Given the description of an element on the screen output the (x, y) to click on. 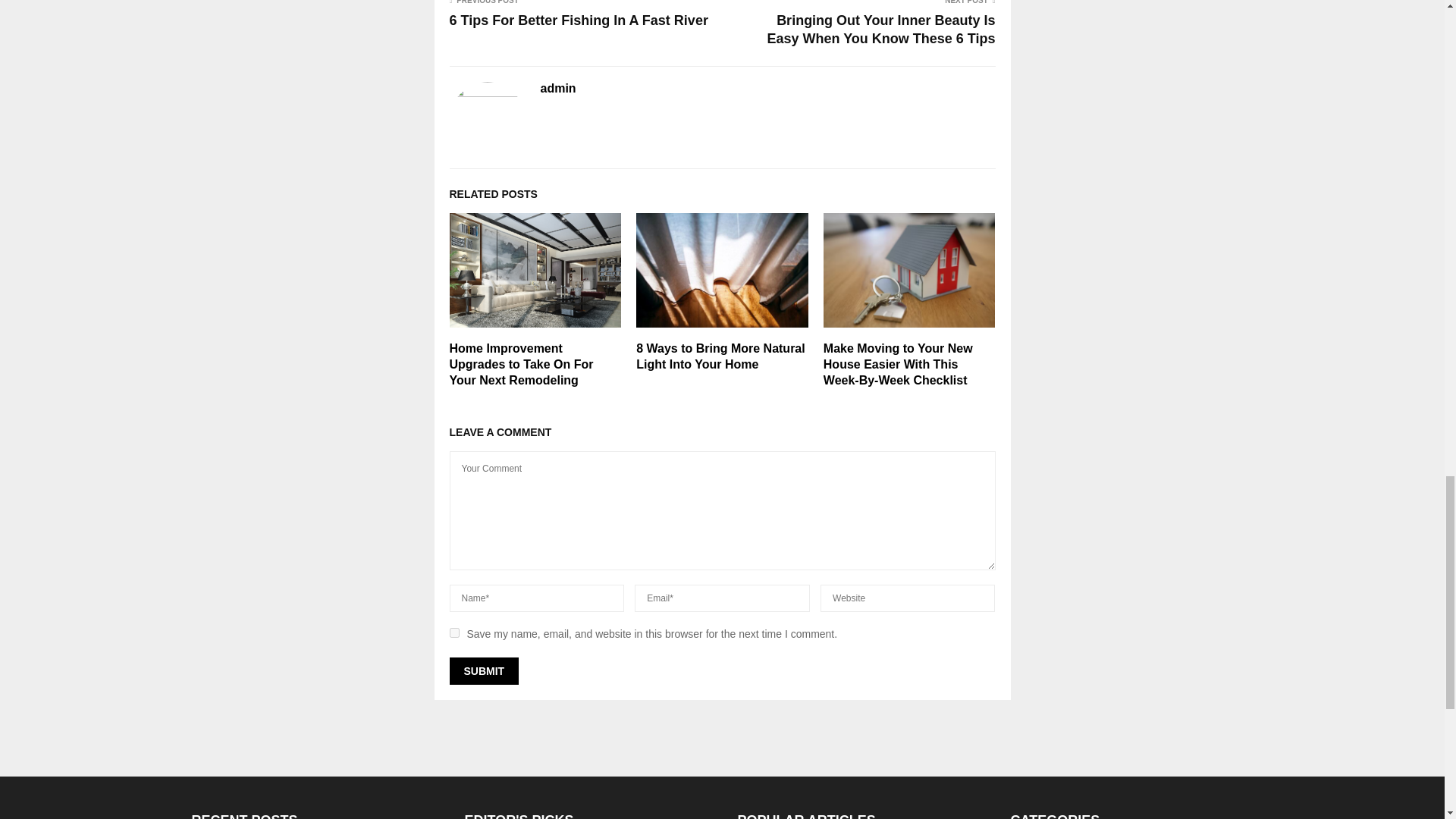
Submit (483, 670)
yes (453, 633)
Posts by admin (557, 89)
